Given the description of an element on the screen output the (x, y) to click on. 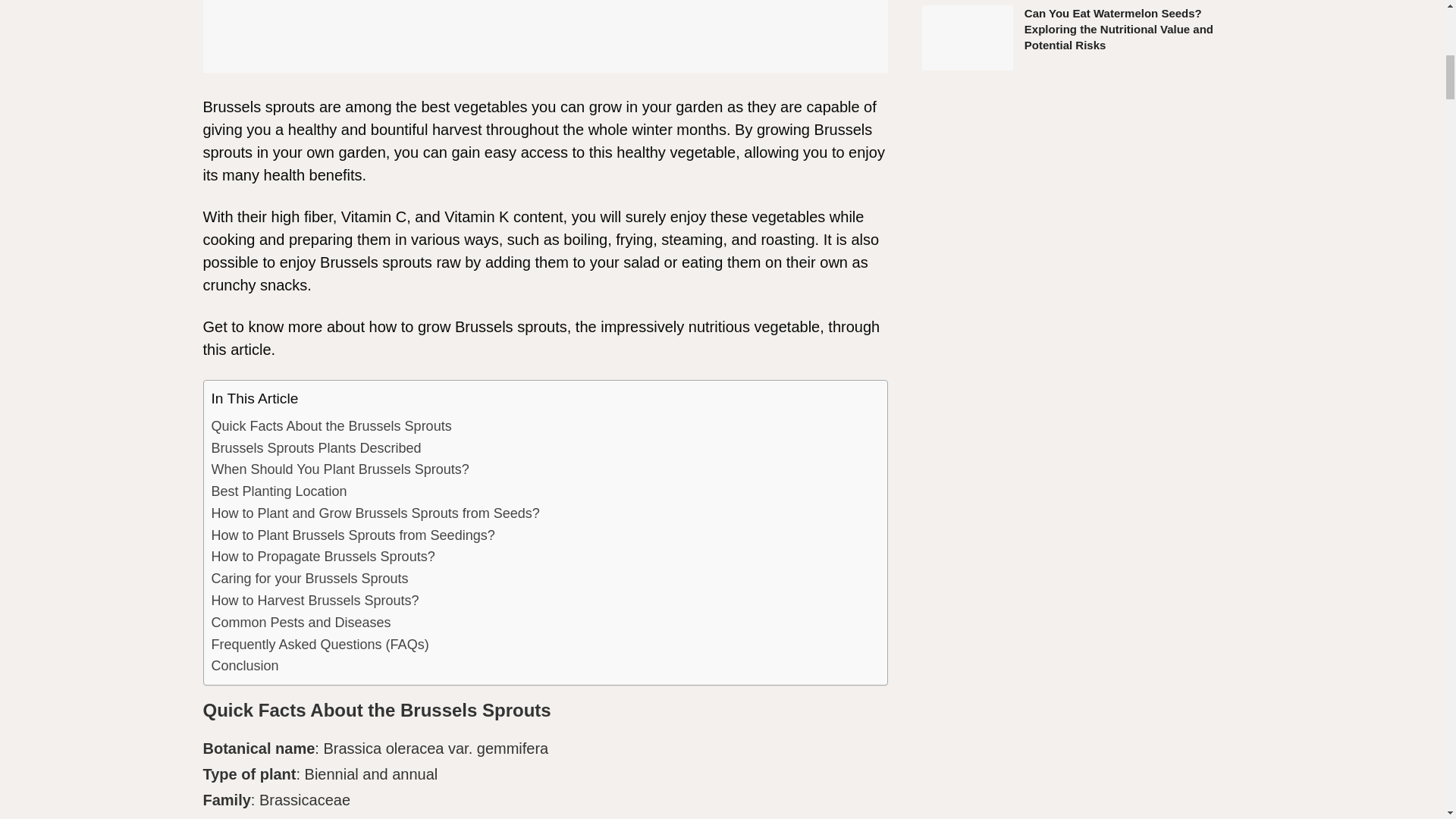
How to Plant and Grow Brussels Sprouts from Seeds? (374, 513)
How to Plant Brussels Sprouts from Seedings? (353, 535)
Quick Facts About the Brussels Sprouts (331, 426)
Conclusion (244, 666)
How to Harvest Brussels Sprouts? (315, 600)
Best Planting Location (278, 491)
How to Propagate Brussels Sprouts? (322, 557)
Caring for your Brussels Sprouts (309, 578)
Brussels Sprouts Plants Described (315, 447)
Common Pests and Diseases (300, 622)
When Should You Plant Brussels Sprouts? (339, 469)
